Given the description of an element on the screen output the (x, y) to click on. 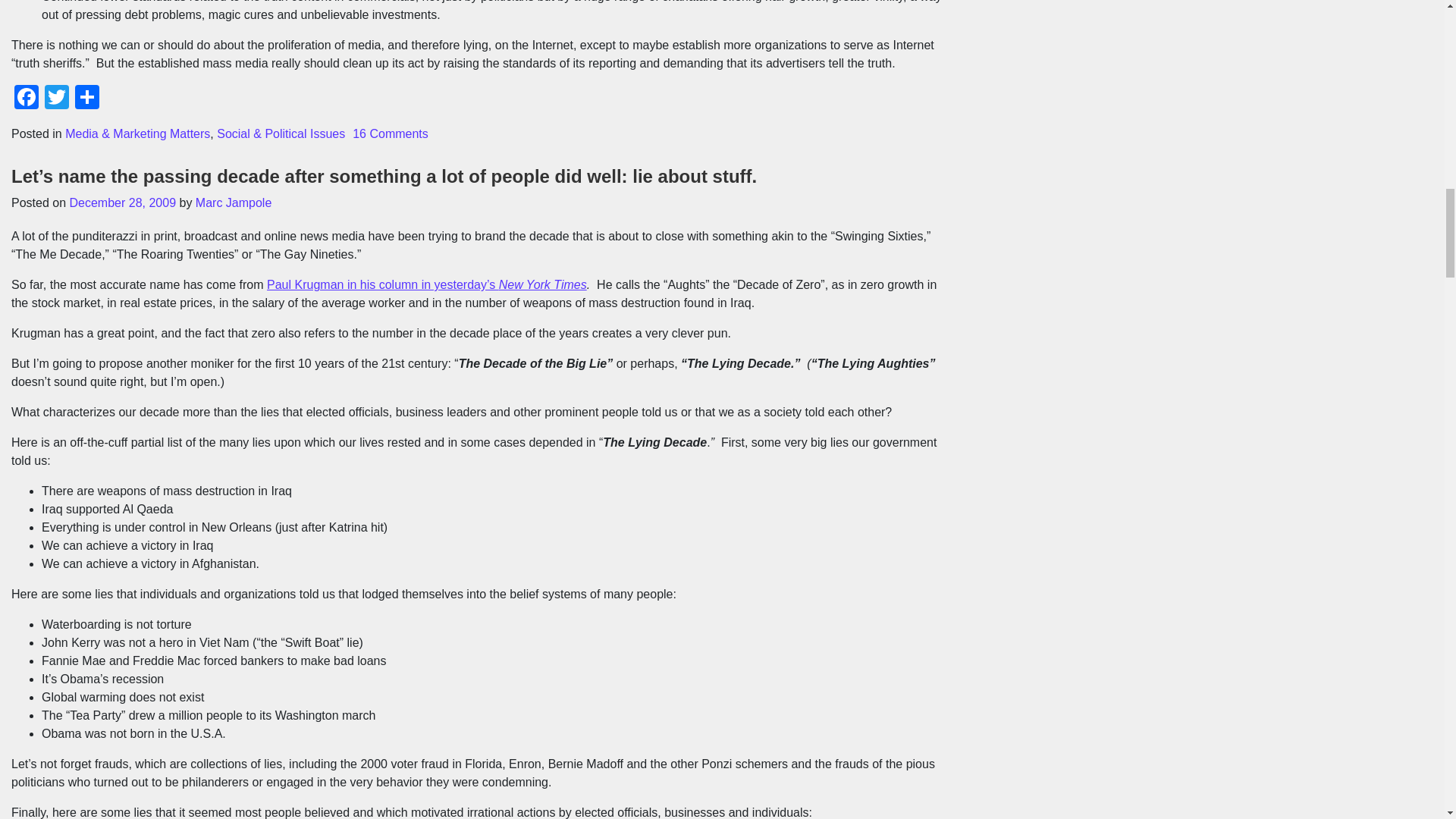
Twitter (56, 99)
Facebook (26, 99)
Twitter (56, 99)
December 28, 2009 (122, 202)
Facebook (26, 99)
Marc Jampole (232, 202)
